Given the description of an element on the screen output the (x, y) to click on. 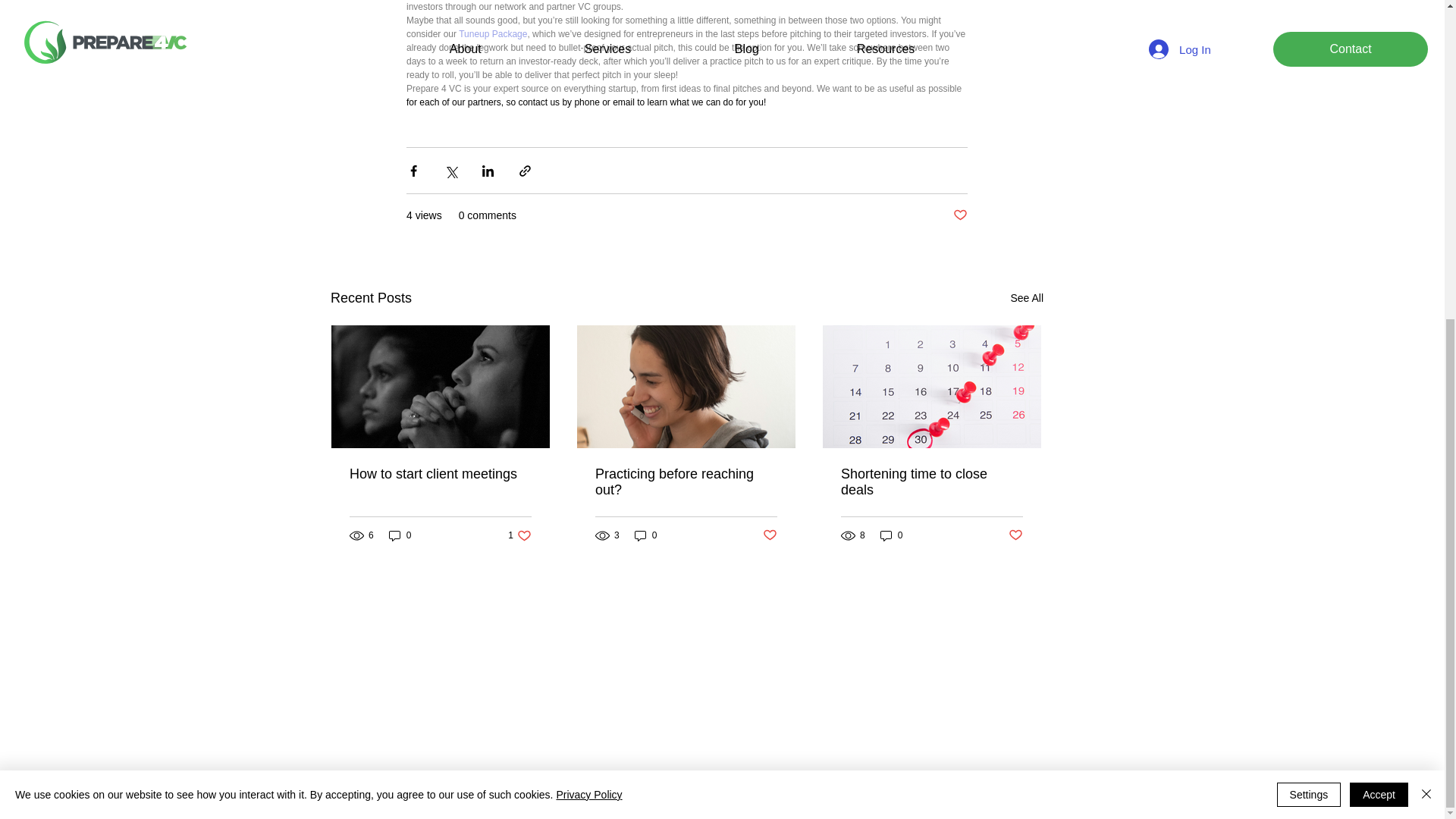
Post not marked as liked (960, 215)
How to start client meetings (440, 474)
Tuneup Package (492, 33)
0 (400, 535)
Practicing before reaching out? (686, 481)
See All (519, 535)
0 (1026, 298)
Shortening time to close deals (646, 535)
Post not marked as liked (932, 481)
